Given the description of an element on the screen output the (x, y) to click on. 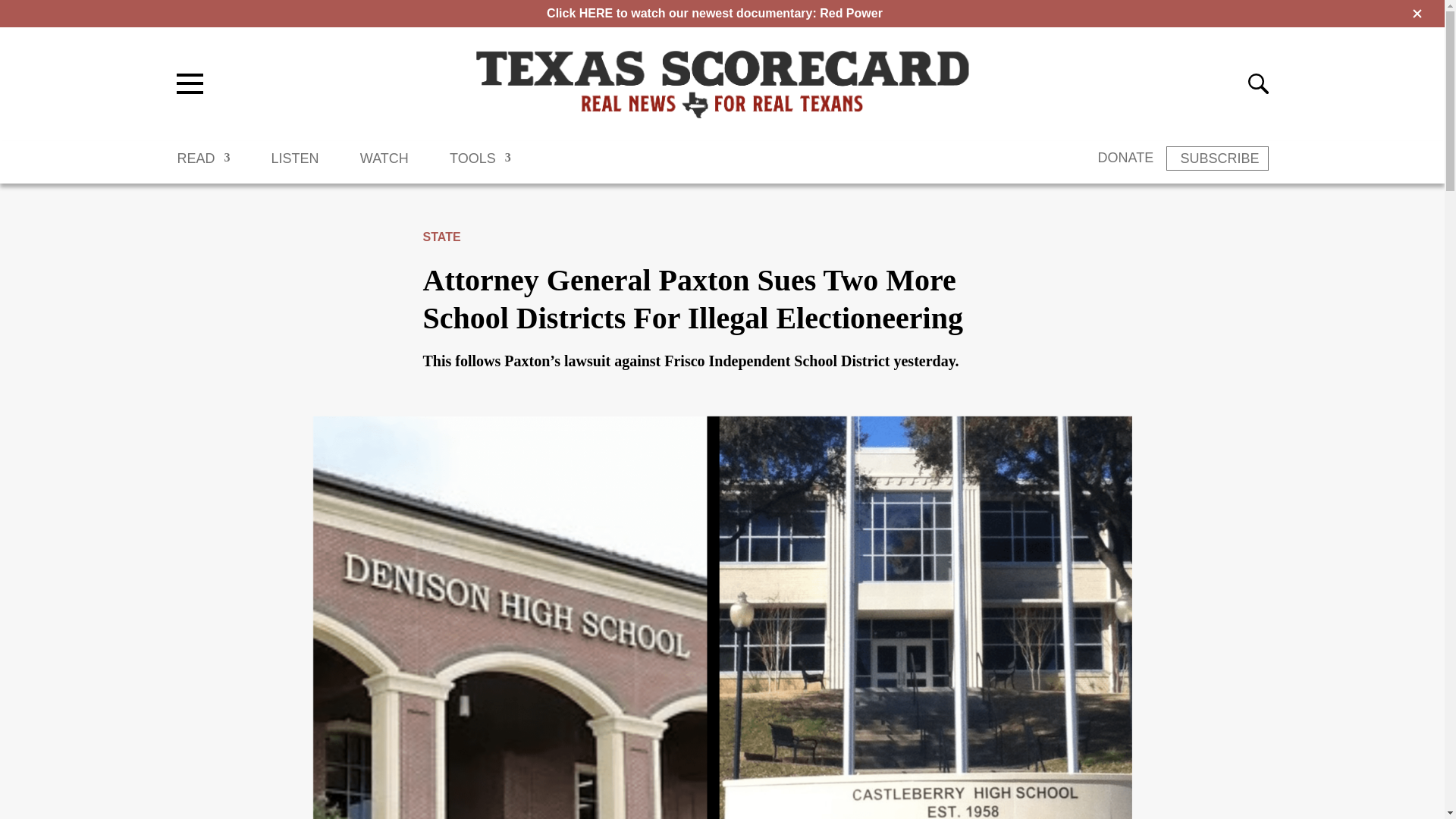
READ (203, 165)
TOOLS (480, 165)
LISTEN (294, 165)
Icon - Search (1257, 83)
WATCH (384, 165)
Click HERE to watch our newest documentary: Red Power (714, 12)
tx-logo (722, 83)
